Given the description of an element on the screen output the (x, y) to click on. 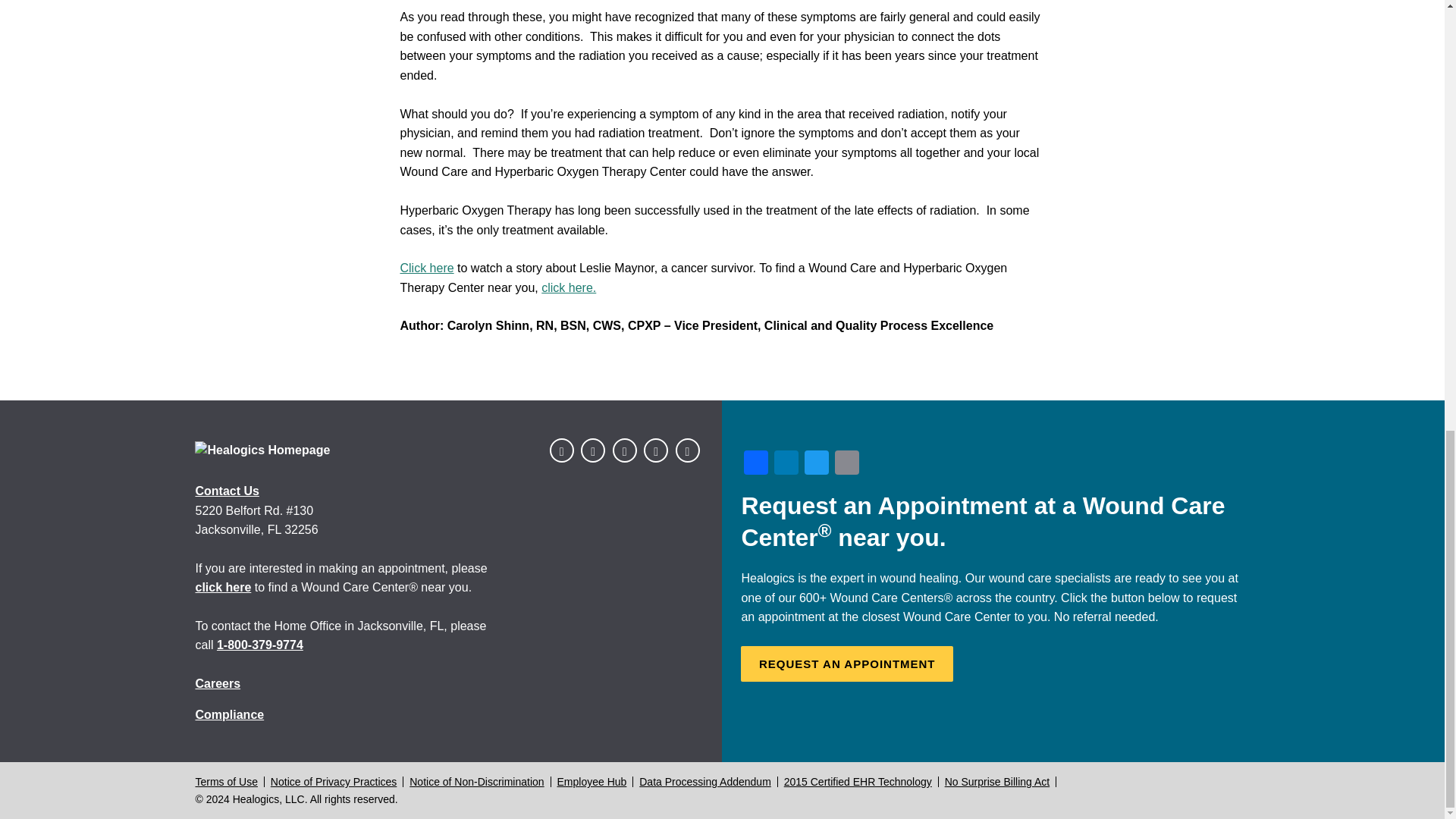
Facebook (756, 464)
Twitter (816, 464)
Email (846, 464)
LinkedIn (786, 464)
